Given the description of an element on the screen output the (x, y) to click on. 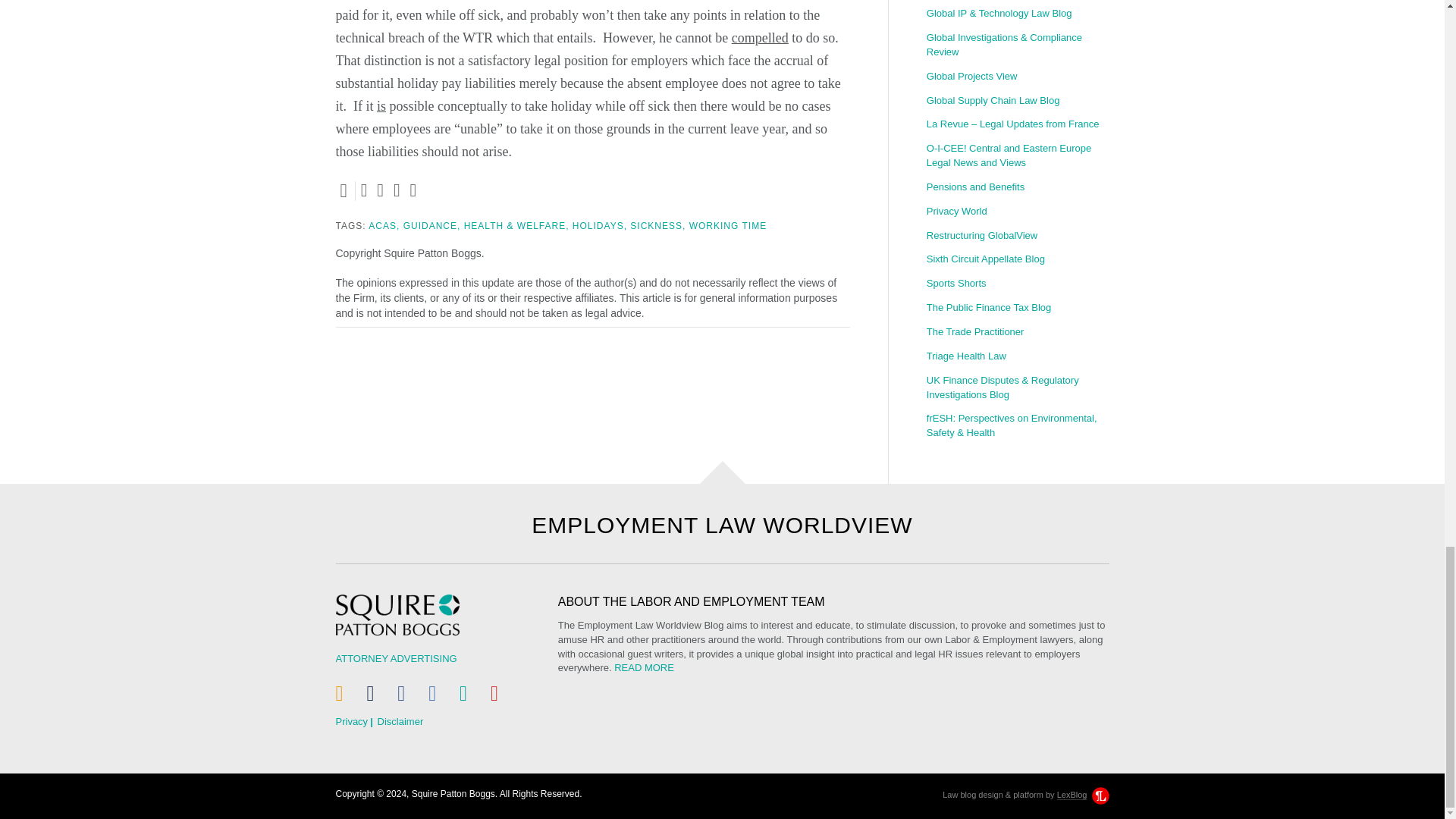
HOLIDAYS, (599, 225)
ACAS, (383, 225)
GUIDANCE, (432, 225)
WORKING TIME (727, 225)
SICKNESS, (657, 225)
